Given the description of an element on the screen output the (x, y) to click on. 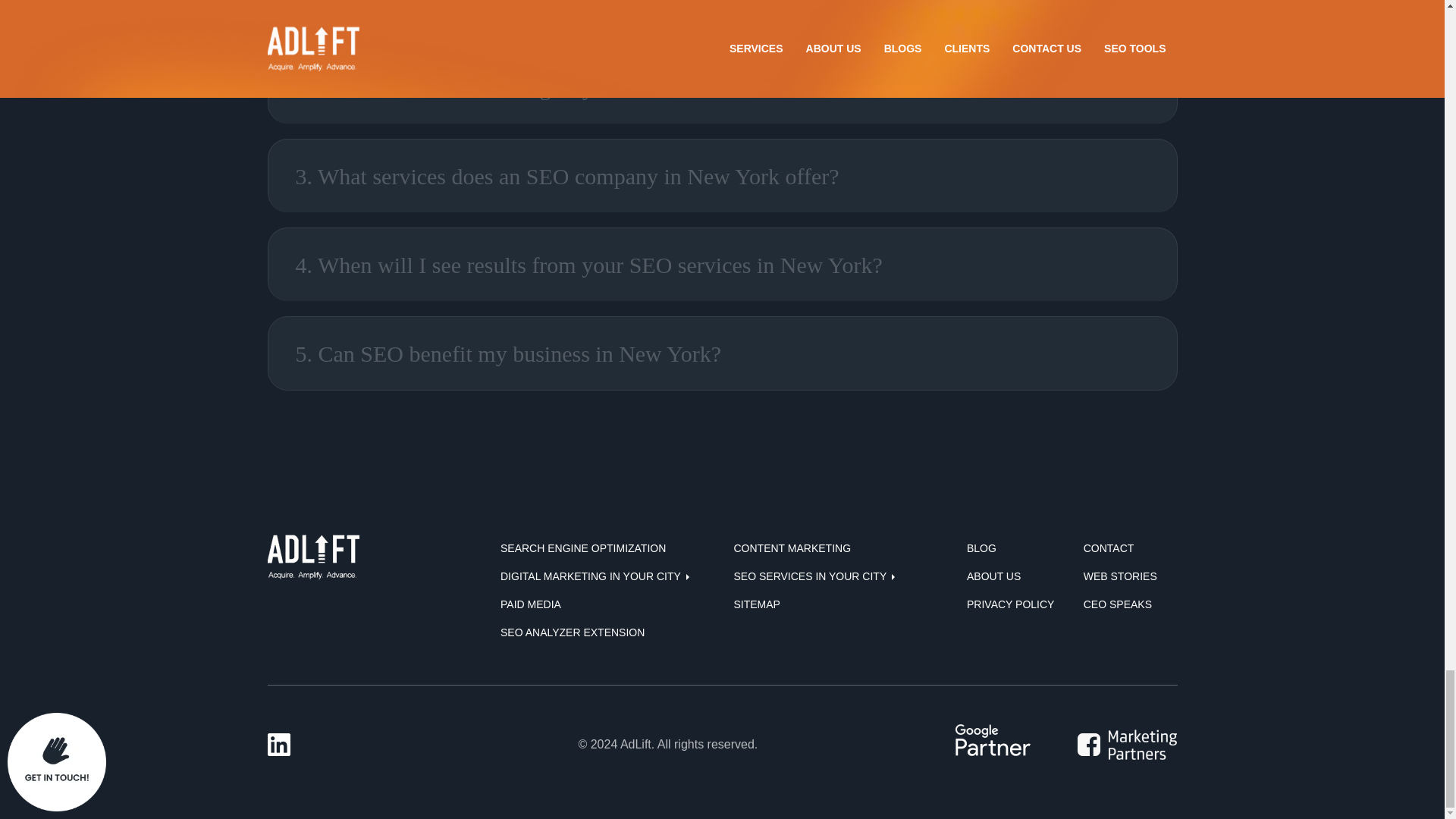
CONTENT MARKETING (792, 548)
5. Can SEO benefit my business in New York? (721, 353)
2. Which is the best SEO agency in New York? (721, 87)
DIGITAL MARKETING IN YOUR CITY (594, 576)
SEARCH ENGINE OPTIMIZATION (582, 548)
3. What services does an SEO company in New York offer? (721, 175)
